Given the description of an element on the screen output the (x, y) to click on. 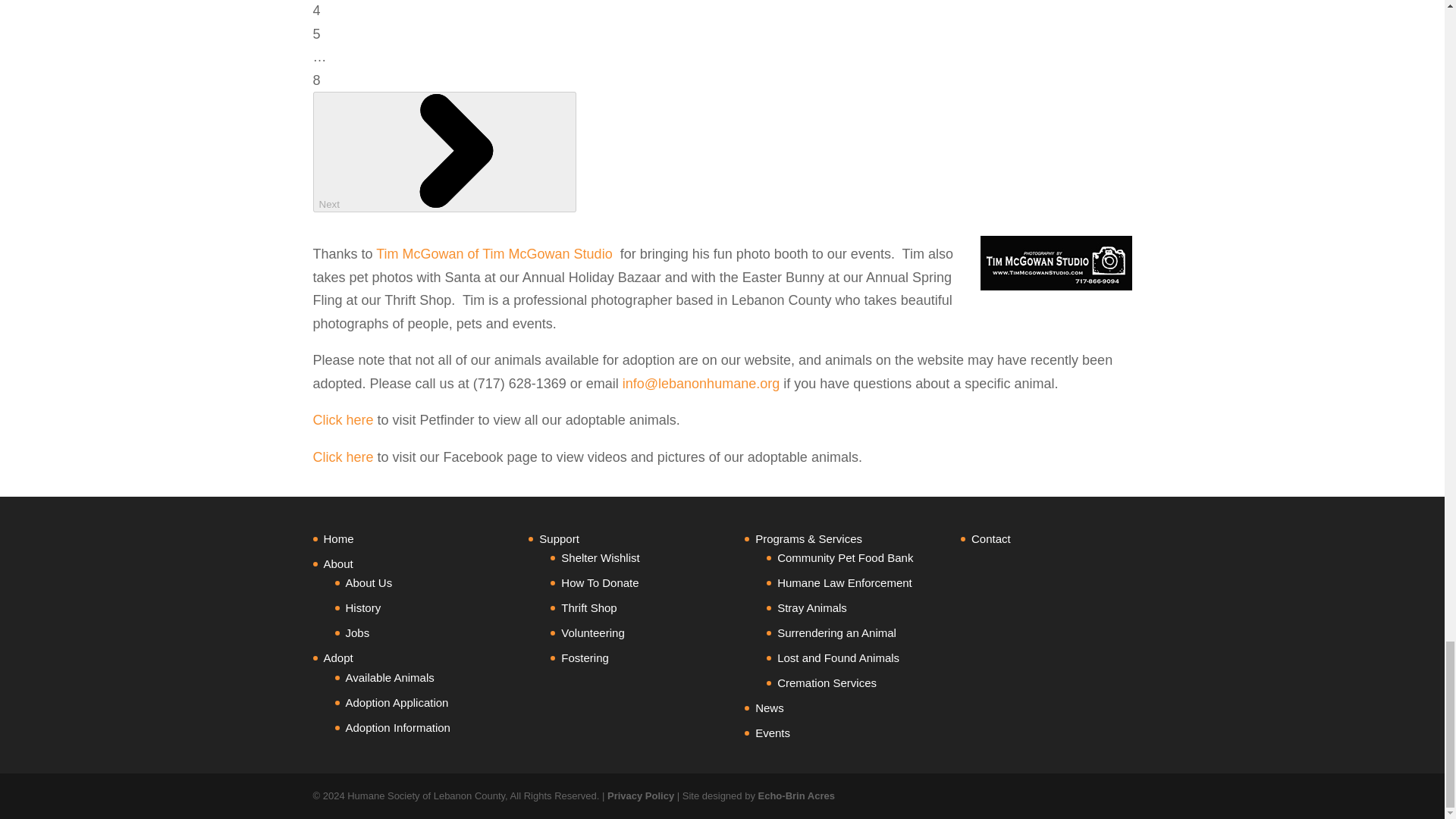
Jobs (357, 632)
About (337, 563)
Adopt (337, 657)
Tim McGowan of Tim McGowan Studio (493, 253)
Click here (342, 457)
History (363, 607)
Click here (342, 419)
Home (338, 538)
About Us (369, 582)
